Given the description of an element on the screen output the (x, y) to click on. 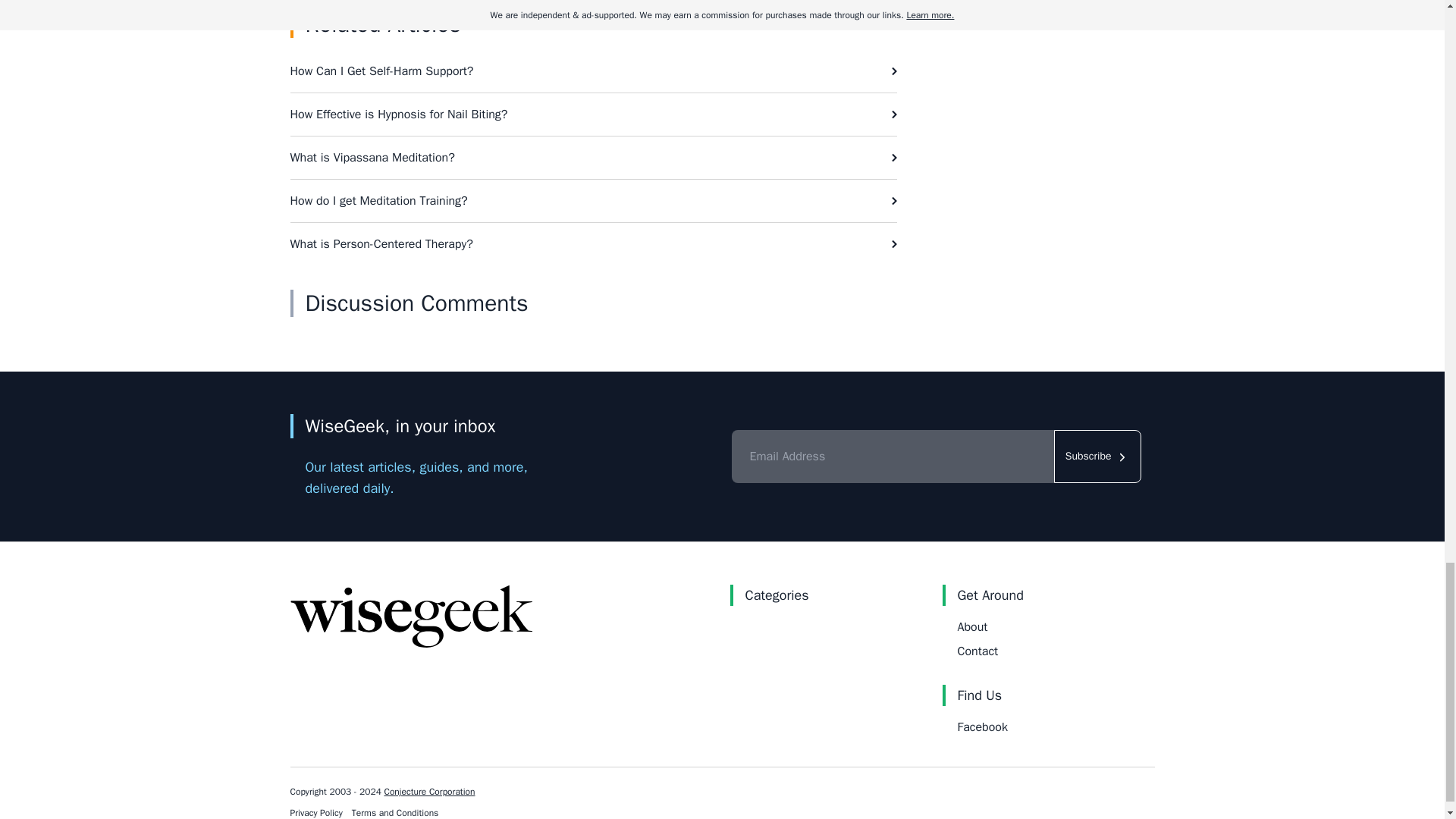
What is Vipassana Meditation? (592, 157)
Contact (976, 651)
Subscribe (1097, 456)
How Can I Get Self-Harm Support? (592, 70)
Facebook (981, 726)
Conjecture Corporation (429, 791)
How Effective is Hypnosis for Nail Biting? (592, 114)
How do I get Meditation Training? (592, 200)
What is Person-Centered Therapy? (592, 243)
About (971, 626)
